Given the description of an element on the screen output the (x, y) to click on. 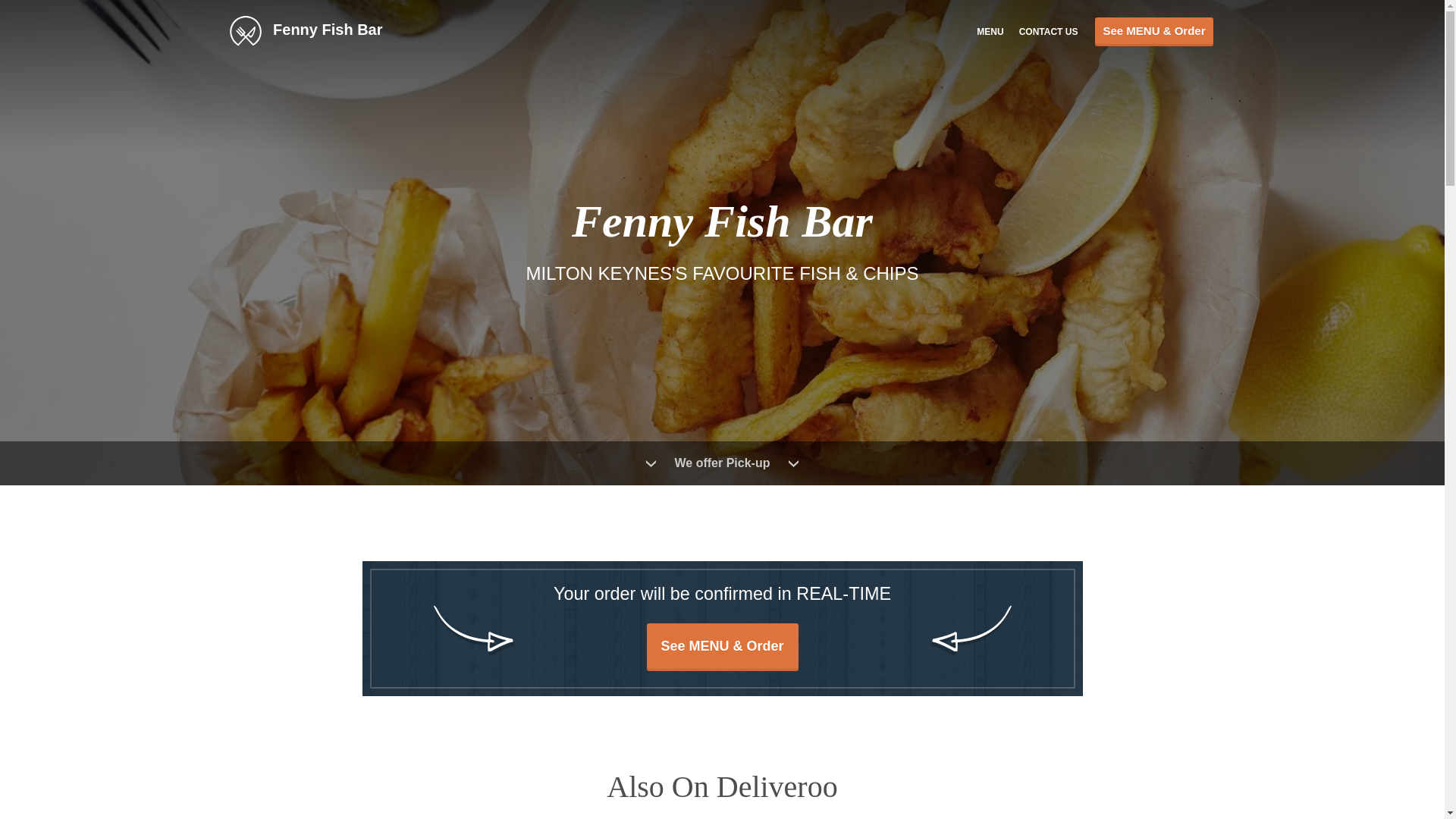
CONTACT US (1048, 30)
MENU (989, 30)
 Fenny Fish Bar (312, 30)
